Given the description of an element on the screen output the (x, y) to click on. 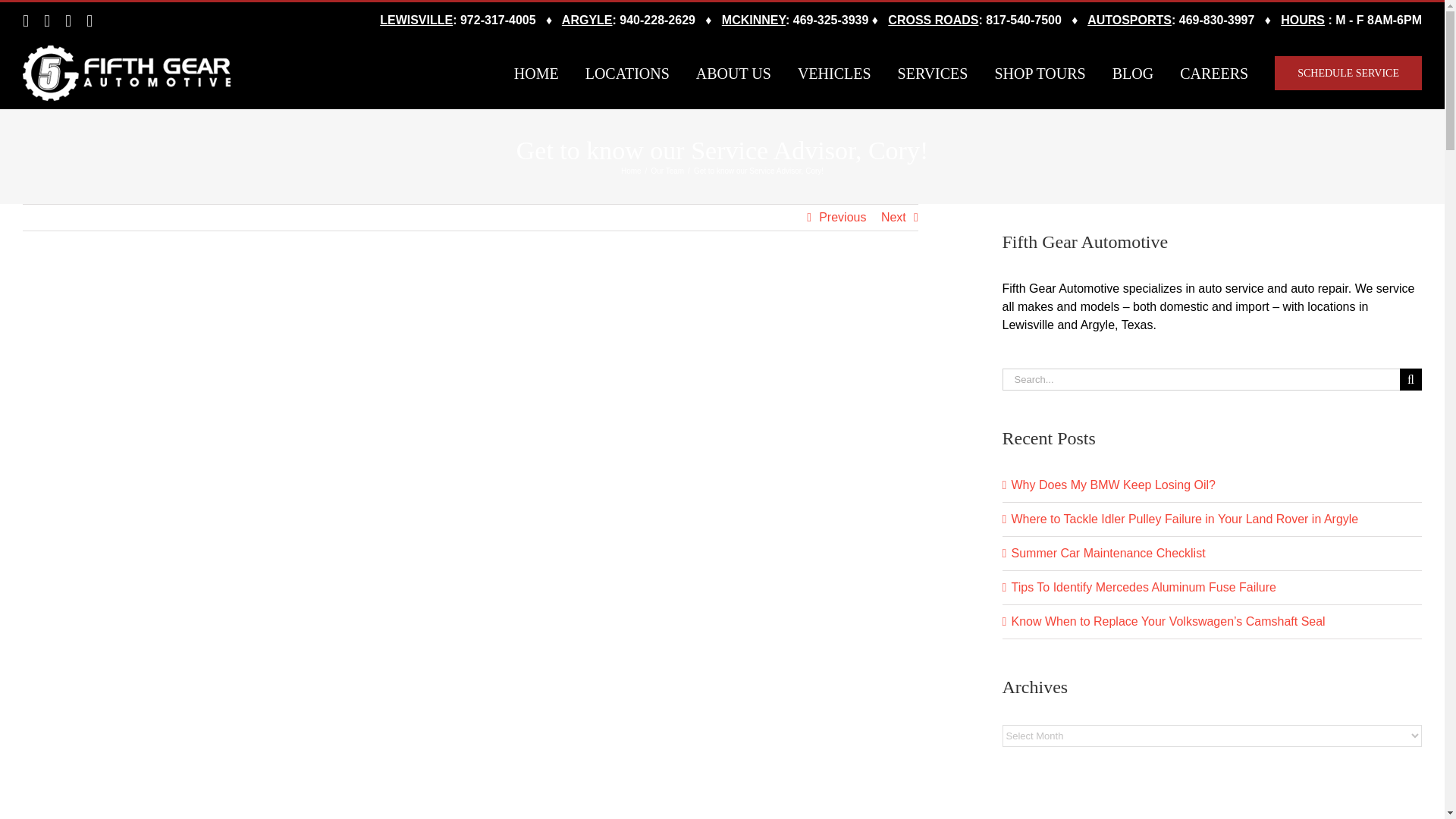
469-830-3997 (1217, 19)
469-325-3939 (831, 19)
LOCATIONS (627, 72)
ARGYLE (587, 19)
CROSS ROADS (933, 19)
940-228-2629 (657, 19)
AUTOSPORTS (1129, 19)
972-317-4005 (497, 19)
817-540-7500 (1023, 19)
ABOUT US (733, 72)
VEHICLES (833, 72)
LEWISVILLE (416, 19)
MCKINNEY (754, 19)
